Given the description of an element on the screen output the (x, y) to click on. 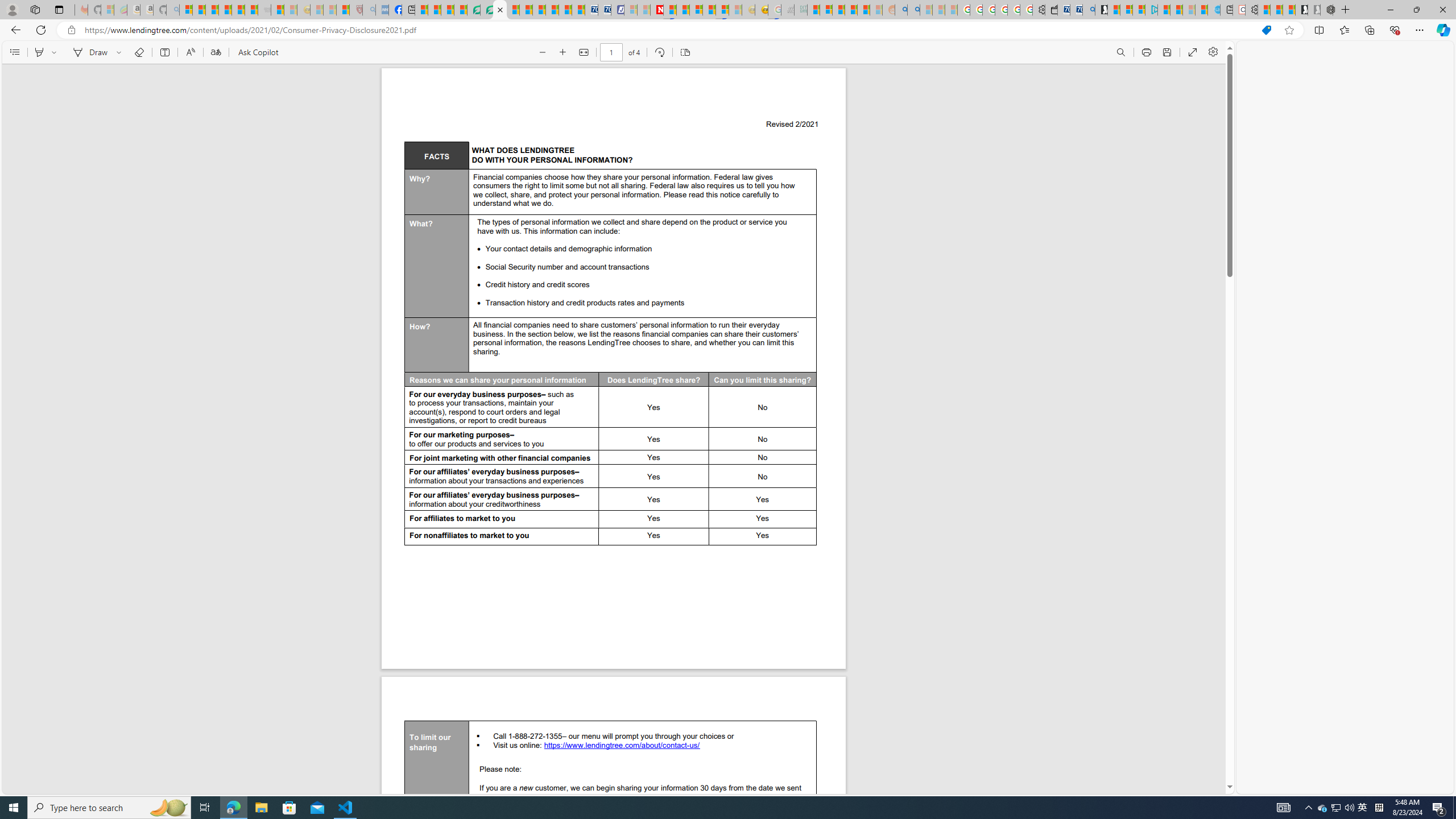
Add text (164, 52)
Trusted Community Engagement and Contributions | Guidelines (669, 9)
Shopping in Microsoft Edge (1266, 29)
New Report Confirms 2023 Was Record Hot | Watch (237, 9)
Latest Politics News & Archive | Newsweek.com (656, 9)
Student Loan Update: Forgiveness Program Ends This Month (864, 9)
